Given the description of an element on the screen output the (x, y) to click on. 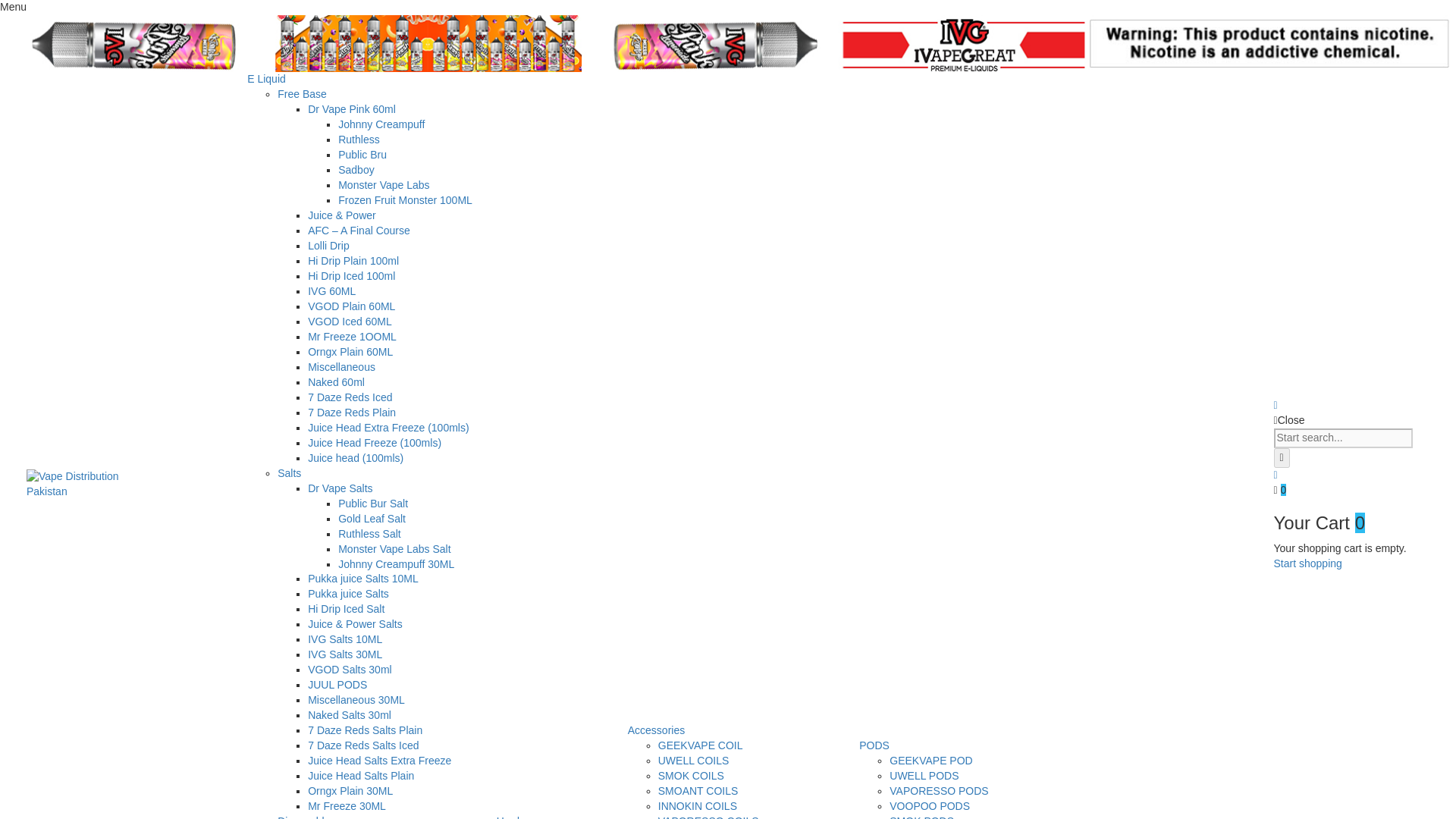
Miscellaneous (341, 367)
Monster Vape Labs (383, 184)
Salts (289, 472)
Pukka juice Salts (347, 593)
Hi Drip Plain 100ml (352, 260)
Lolli Drip (328, 245)
Frozen Fruit Monster 100ML (404, 200)
Sadboy (355, 169)
IVG 60ML (331, 291)
7 Daze Reds Plain (351, 412)
Orngx Plain 60ML (350, 351)
VGOD Plain 60ML (350, 306)
VGOD Iced 60ML (349, 321)
Naked 60ml (336, 381)
Ruthless (357, 139)
